Given the description of an element on the screen output the (x, y) to click on. 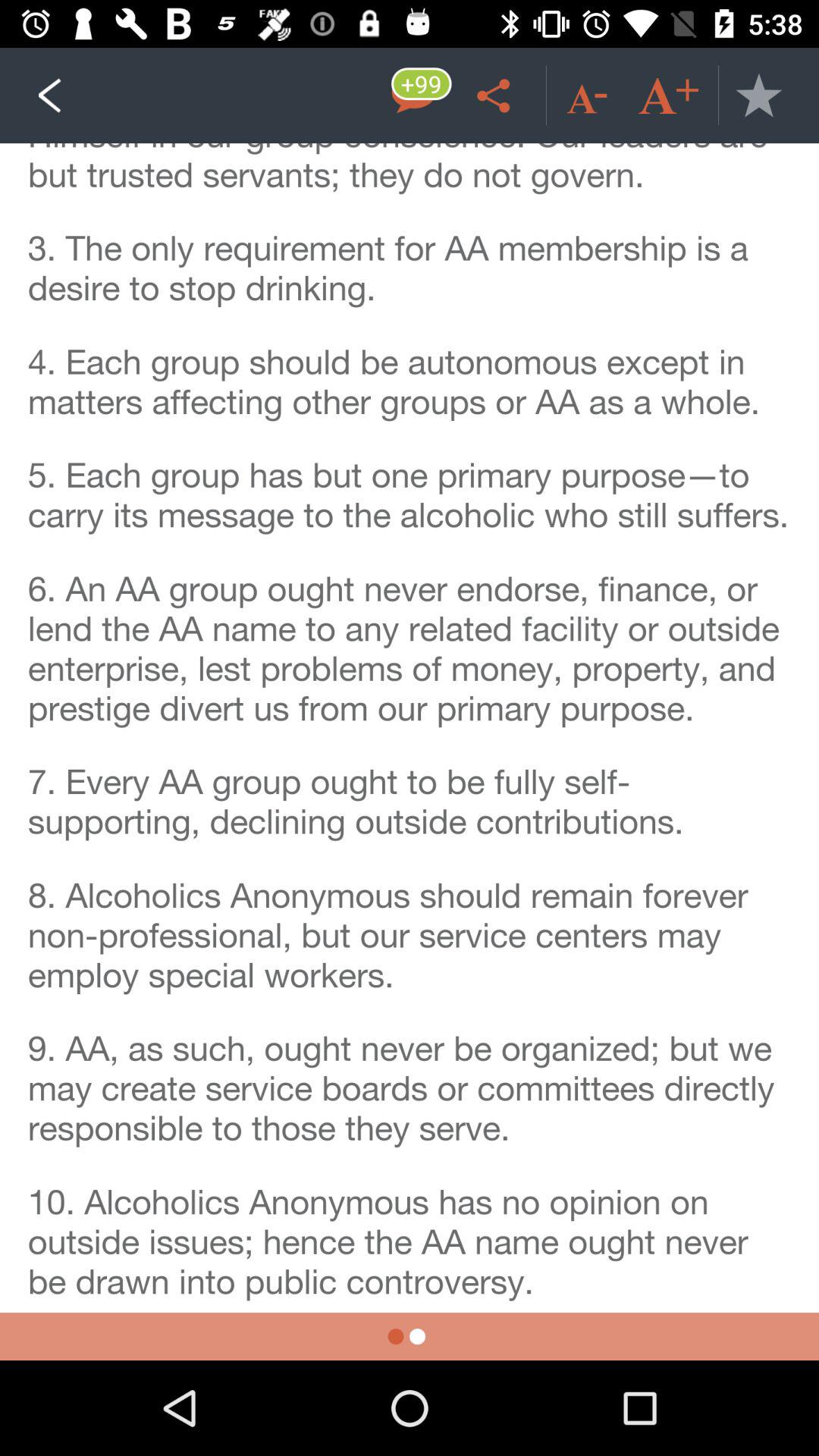
book mark (758, 95)
